Given the description of an element on the screen output the (x, y) to click on. 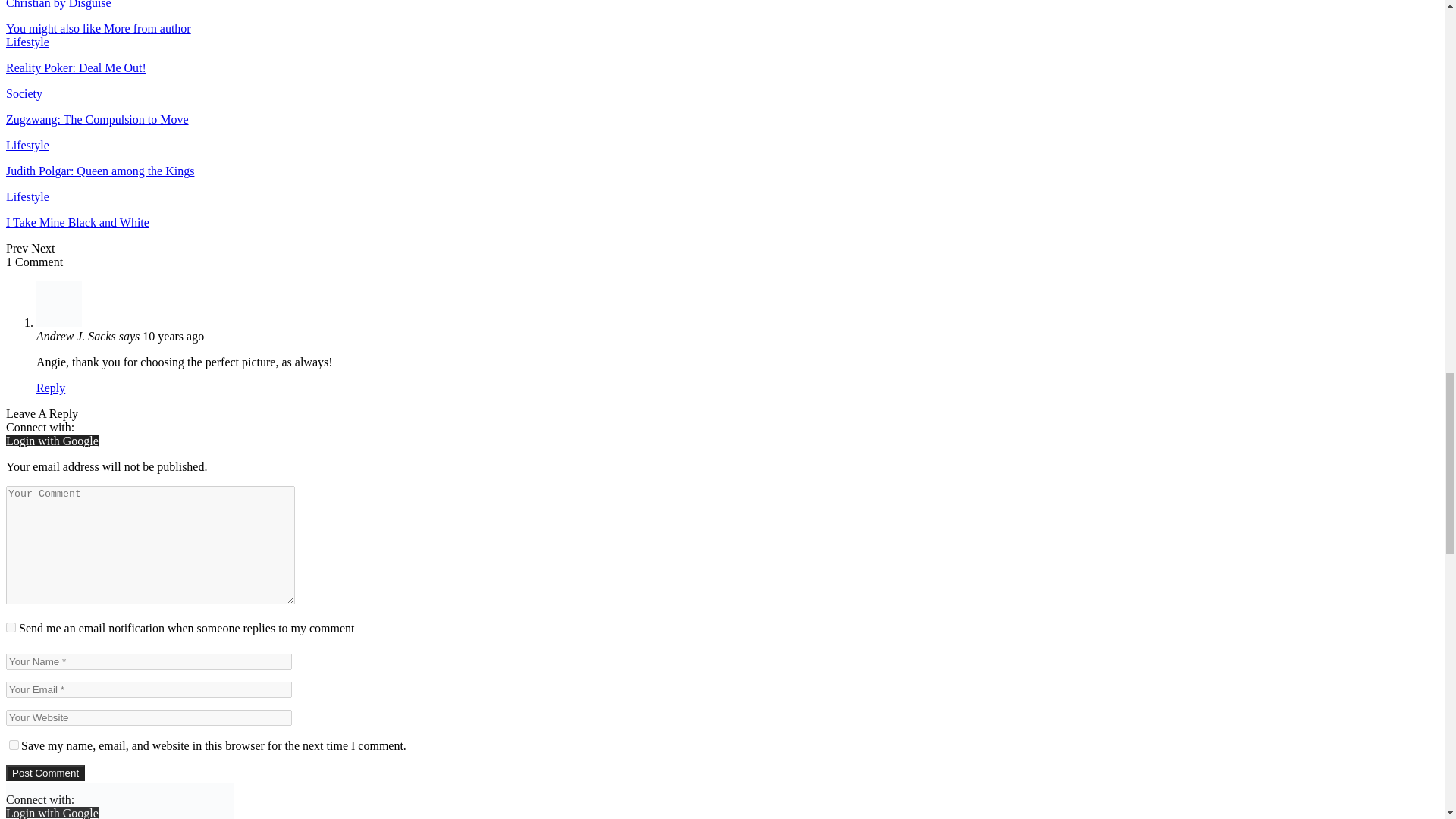
Post Comment (44, 772)
yes (13, 745)
1 (10, 627)
